Given the description of an element on the screen output the (x, y) to click on. 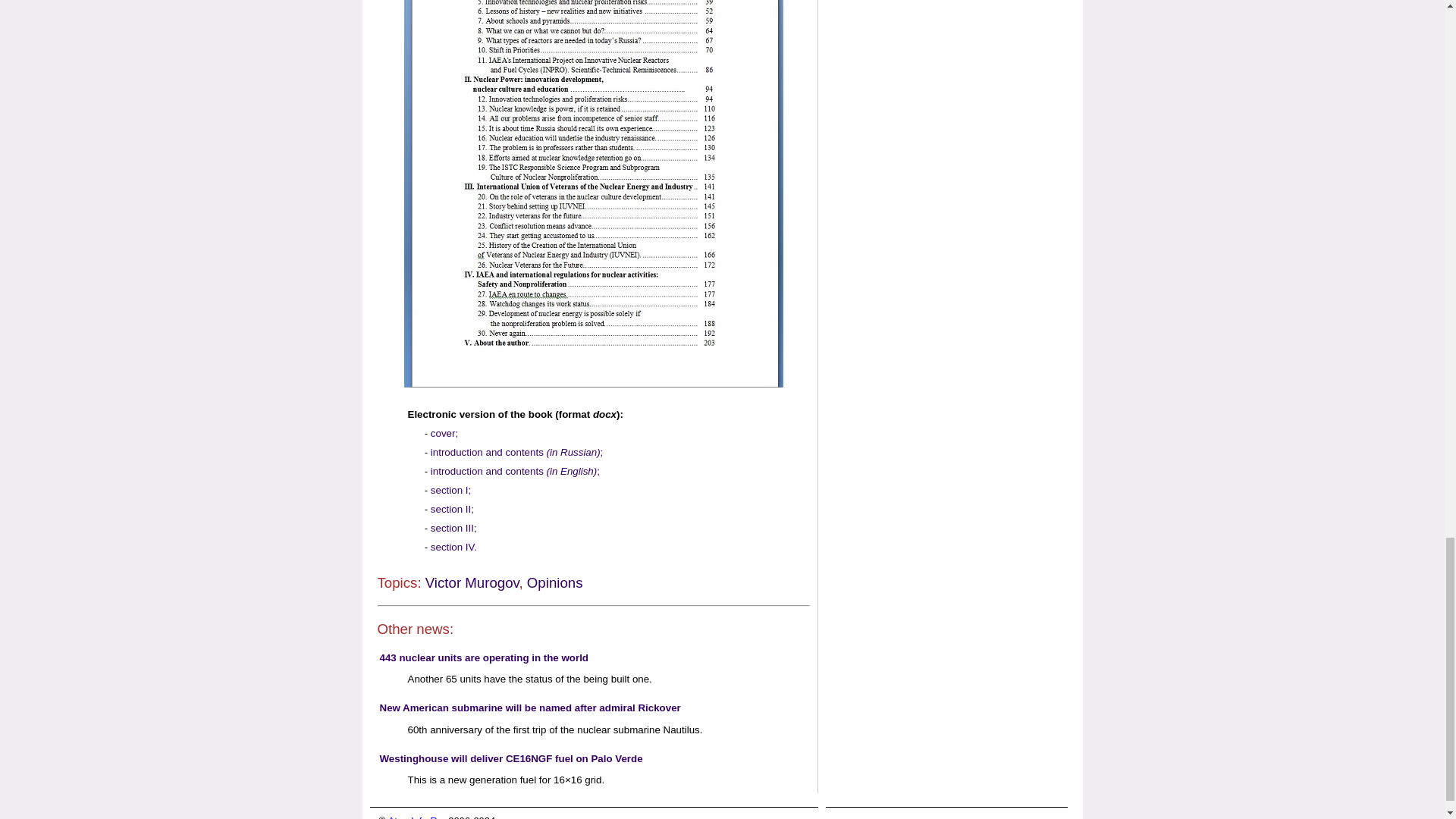
Opinions (555, 582)
cover; (444, 432)
443 nuclear units are operating in the world (483, 657)
Westinghouse will deliver CE16NGF fuel on Palo Verde (510, 758)
section I; (450, 490)
section III; (453, 527)
section II; (452, 509)
Victor Murogov (472, 582)
section IV. (453, 546)
New American submarine will be named after admiral Rickover (528, 707)
